Given the description of an element on the screen output the (x, y) to click on. 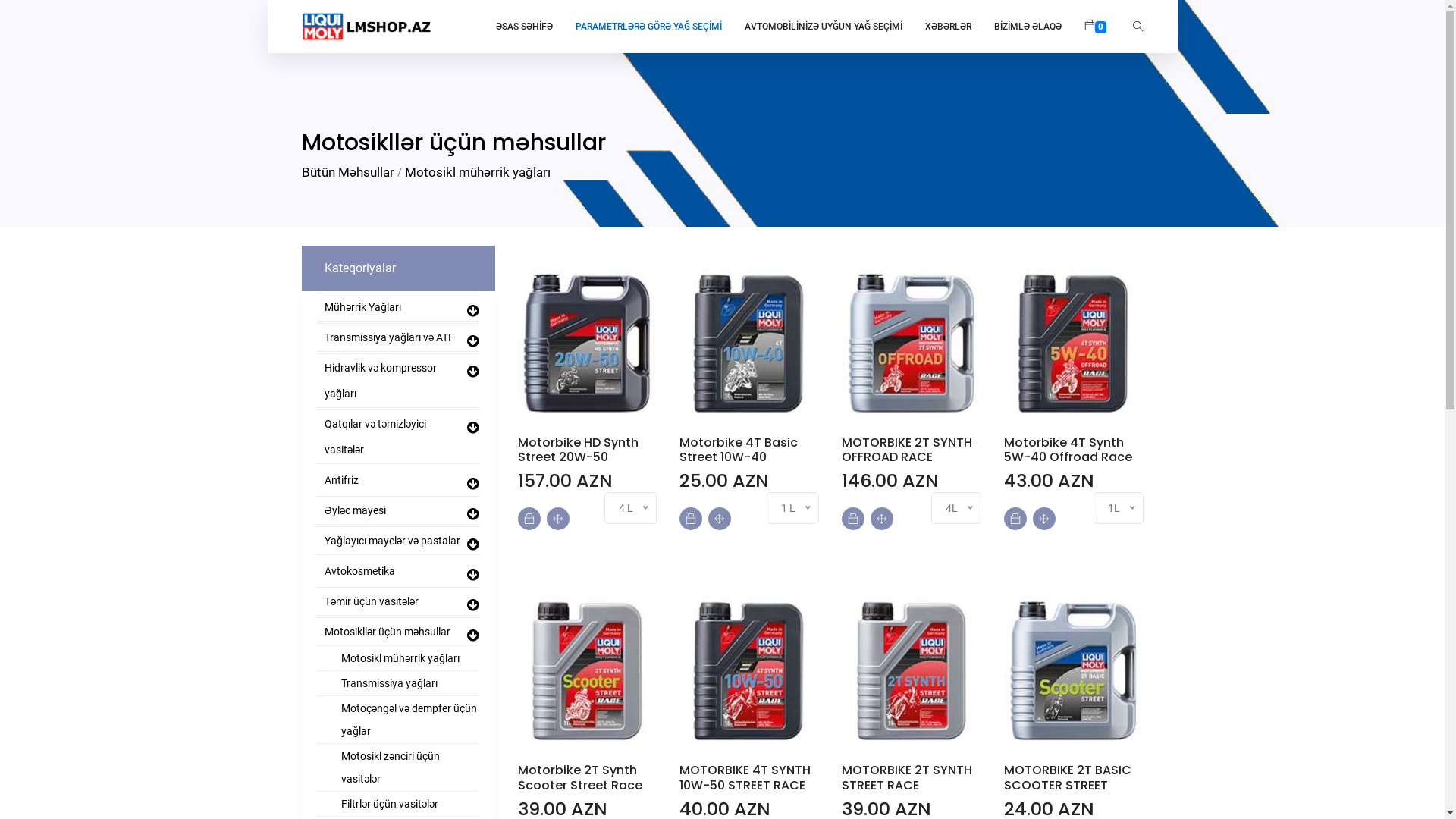
MOTORBIKE 4T SYNTH 10W-50 STREET RACE Element type: text (749, 776)
Motorbike HD Synth Street 20W-50 Element type: text (586, 449)
MOTORBIKE 2T SYNTH STREET RACE Element type: text (911, 776)
Avtokosmetika Element type: text (398, 571)
MOTORBIKE 2T SYNTH OFFROAD RACE Element type: text (911, 449)
Antifriz Element type: text (398, 480)
Motorbike 2T Synth Scooter Street Race Element type: text (586, 776)
Motorbike 4T Basic Street 10W-40 Element type: text (749, 449)
Motorbike 4T Synth 5W-40 Offroad Race Element type: text (1073, 449)
MOTORBIKE 2T BASIC SCOOTER STREET Element type: text (1073, 776)
0 Element type: text (1094, 25)
